Given the description of an element on the screen output the (x, y) to click on. 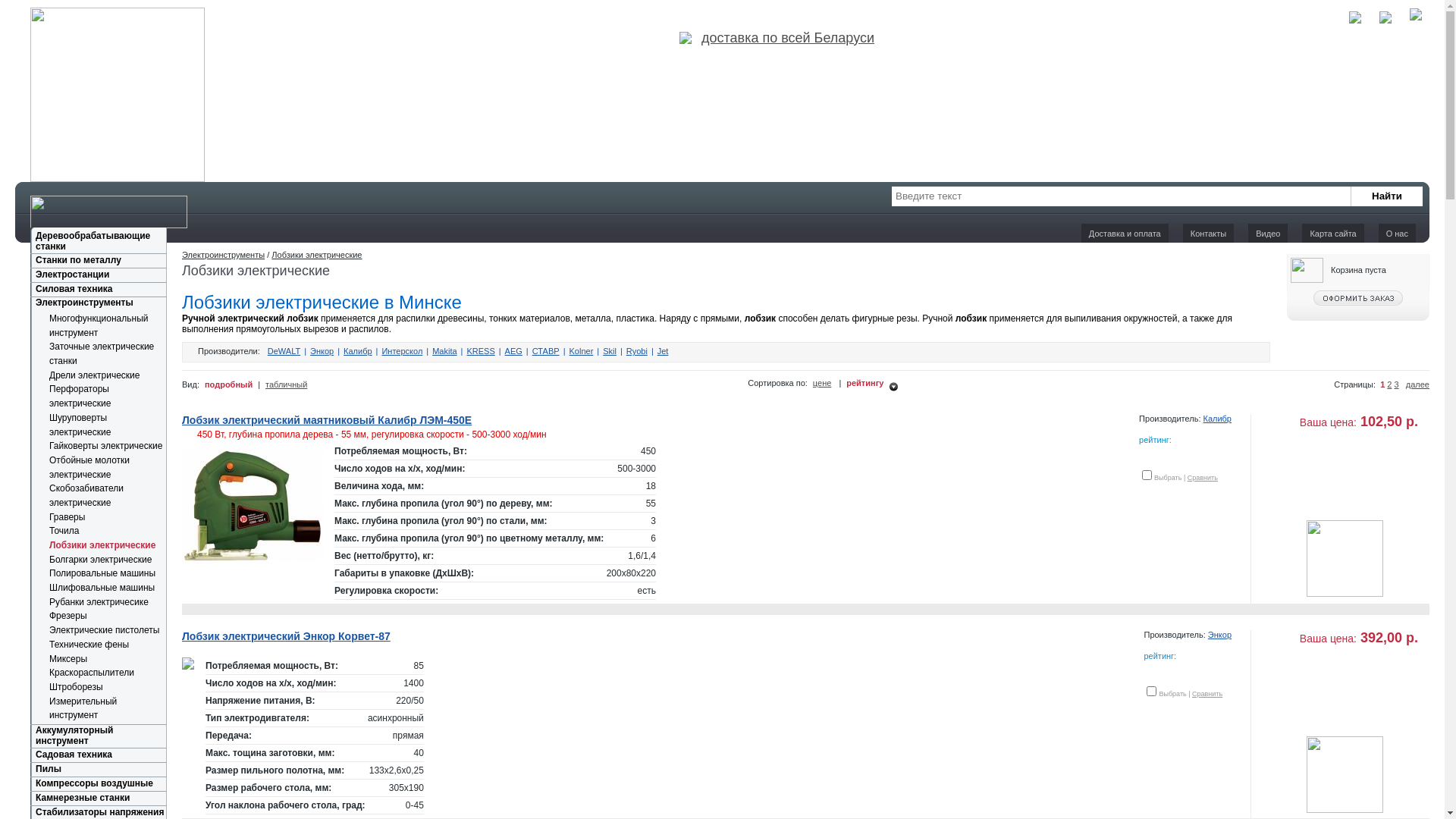
Ryobi Element type: text (636, 350)
DeWALT Element type: text (283, 350)
Skil Element type: text (609, 350)
KRESS Element type: text (480, 350)
2 Element type: text (1388, 384)
1 Element type: text (1382, 384)
Kolner Element type: text (580, 350)
Jet Element type: text (662, 350)
AEG Element type: text (513, 350)
Makita Element type: text (444, 350)
3 Element type: text (1395, 384)
